Given the description of an element on the screen output the (x, y) to click on. 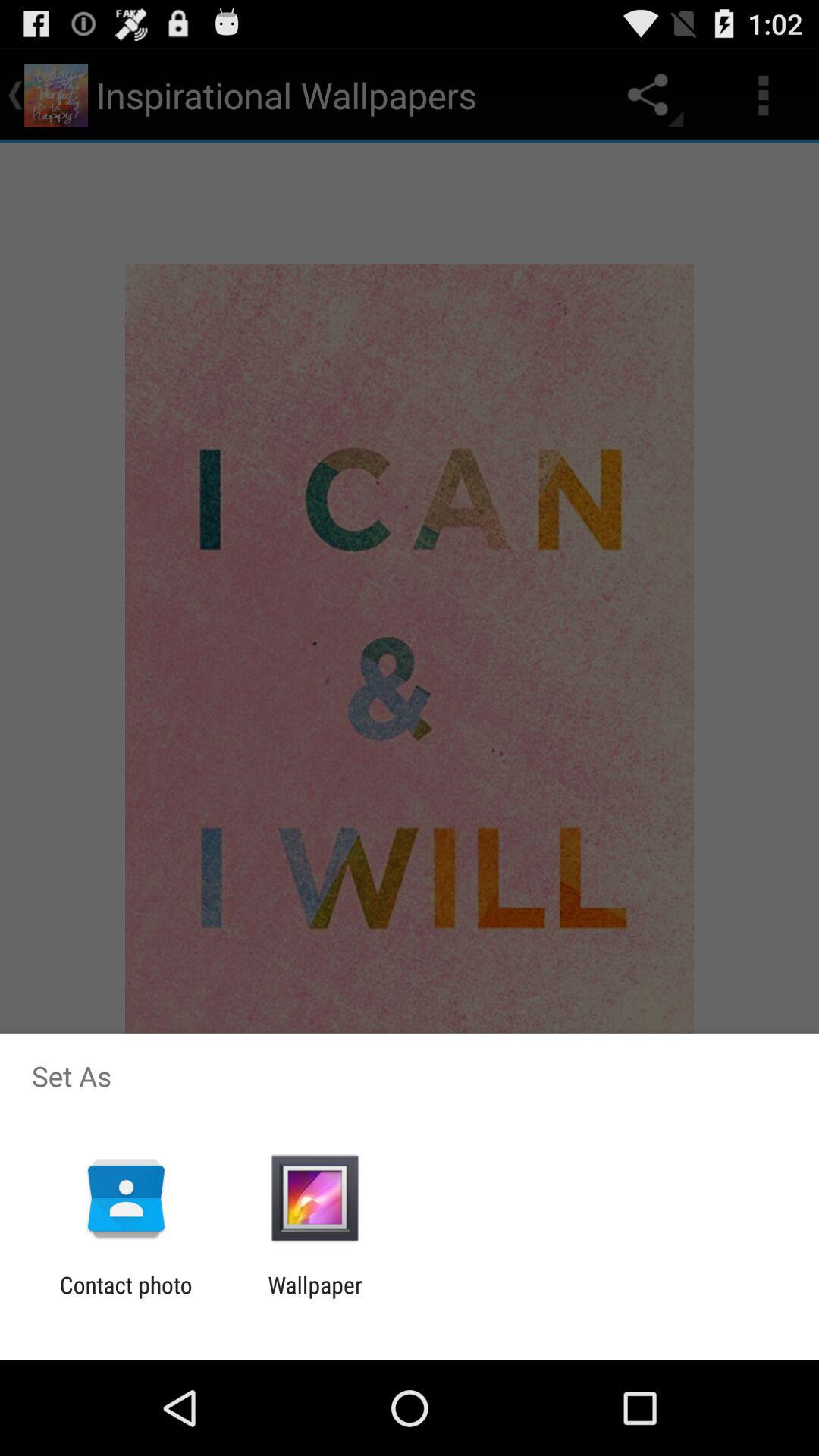
turn on the wallpaper app (314, 1298)
